Given the description of an element on the screen output the (x, y) to click on. 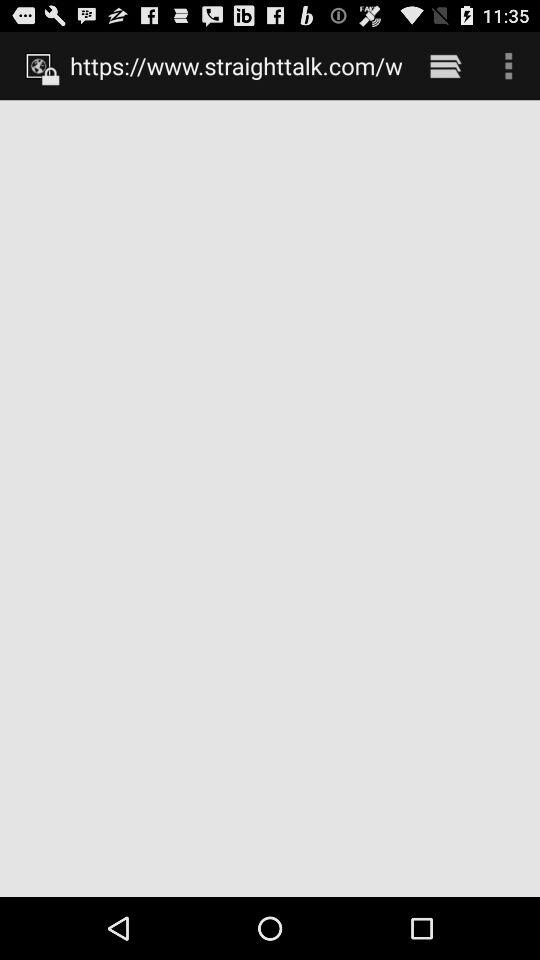
launch item at the top (235, 65)
